Given the description of an element on the screen output the (x, y) to click on. 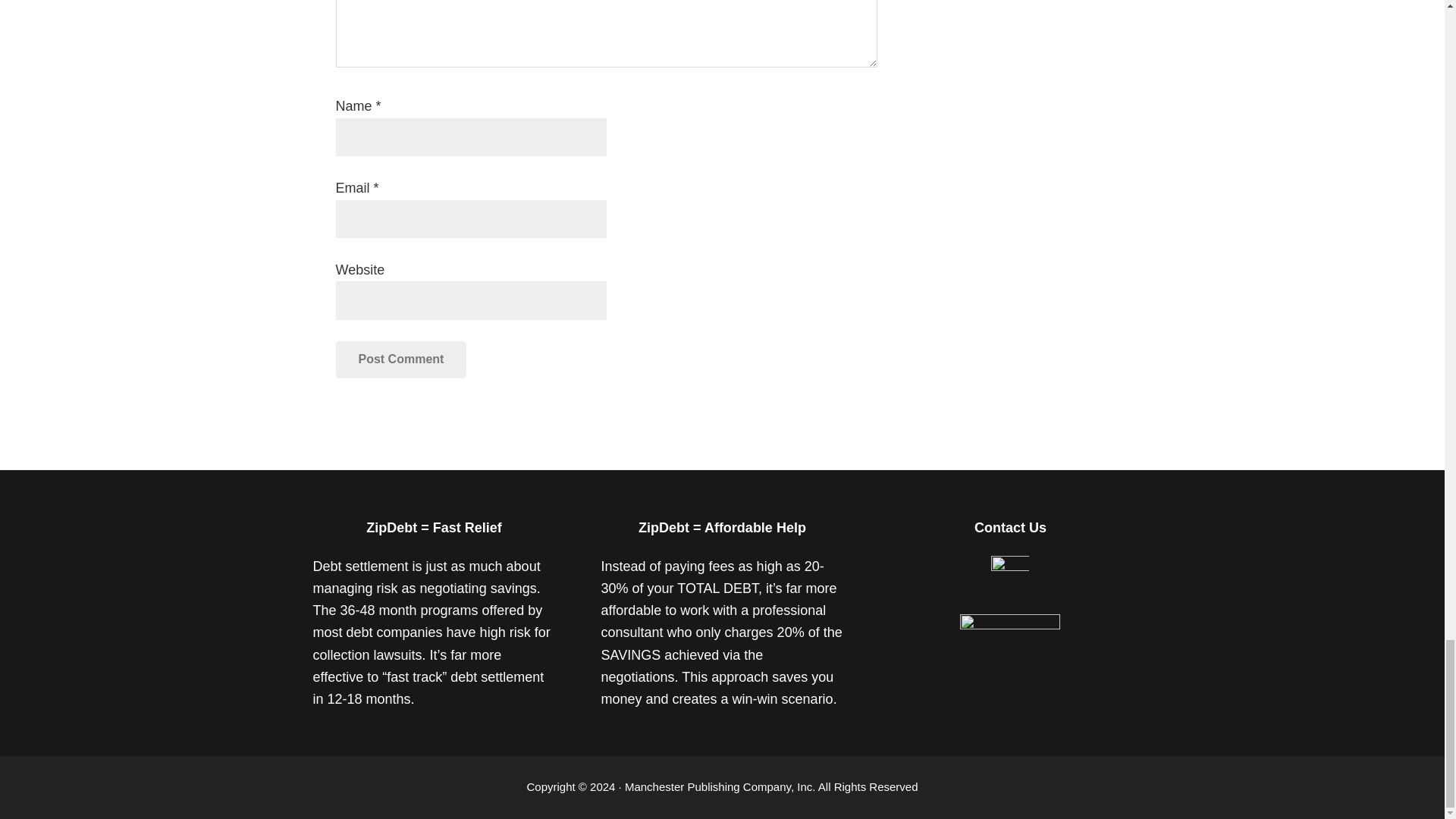
Post Comment (399, 359)
Contact Us (1010, 570)
Post Comment (399, 359)
